Given the description of an element on the screen output the (x, y) to click on. 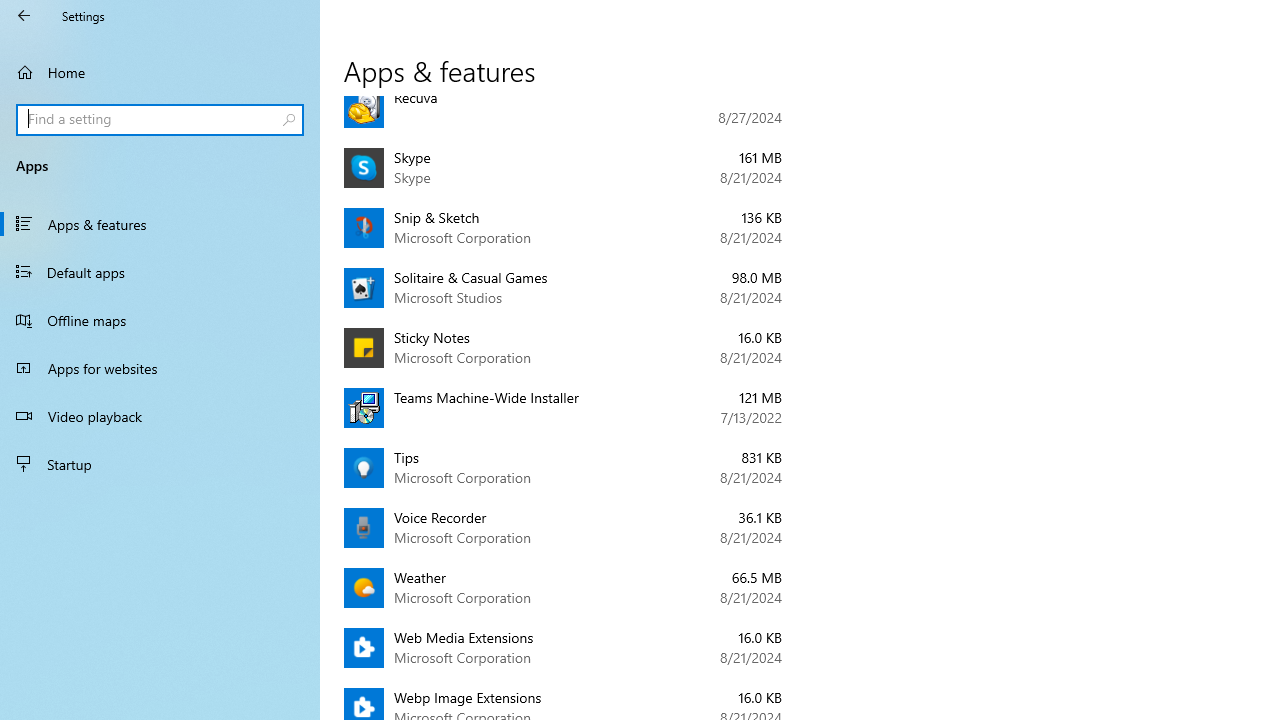
Startup (160, 463)
Apps for websites (160, 367)
Video playback (160, 415)
Apps & features (160, 223)
Back (24, 15)
Offline maps (160, 319)
Home (160, 71)
